Given the description of an element on the screen output the (x, y) to click on. 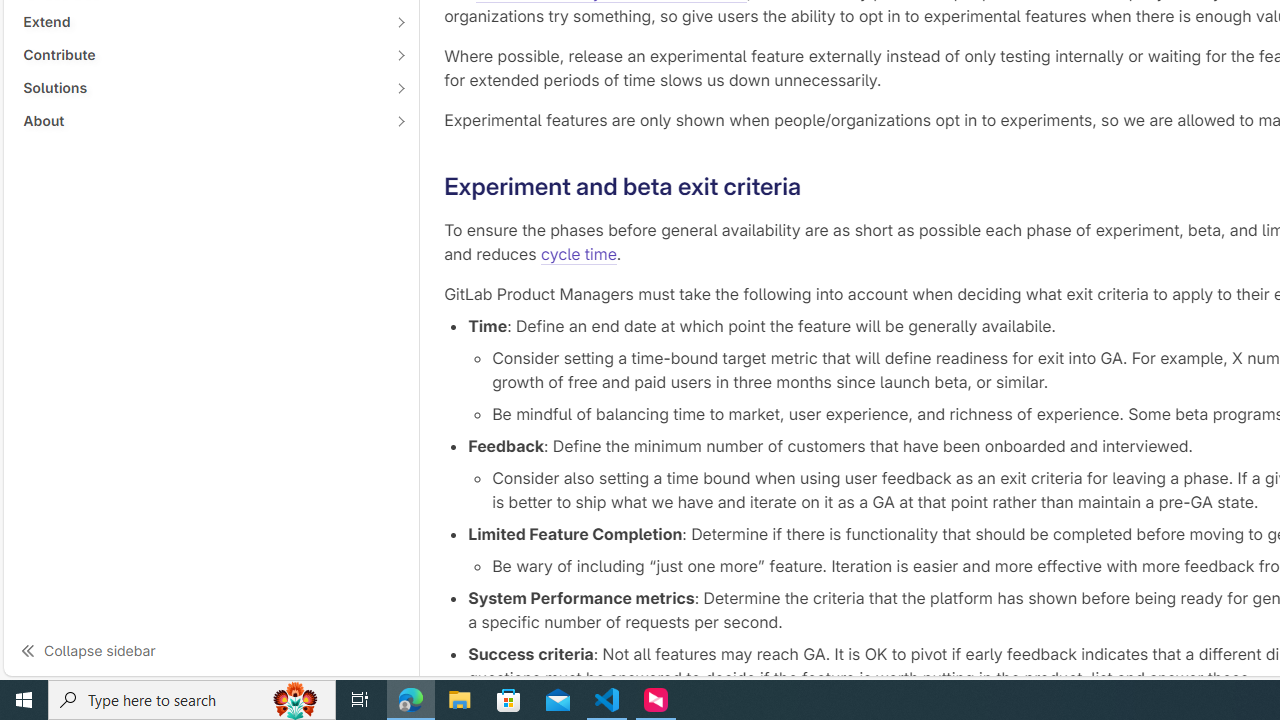
Contribute (199, 54)
cycle time (578, 254)
Solutions (199, 87)
Extend (199, 21)
Collapse sidebar (211, 650)
Permalink (817, 186)
